Given the description of an element on the screen output the (x, y) to click on. 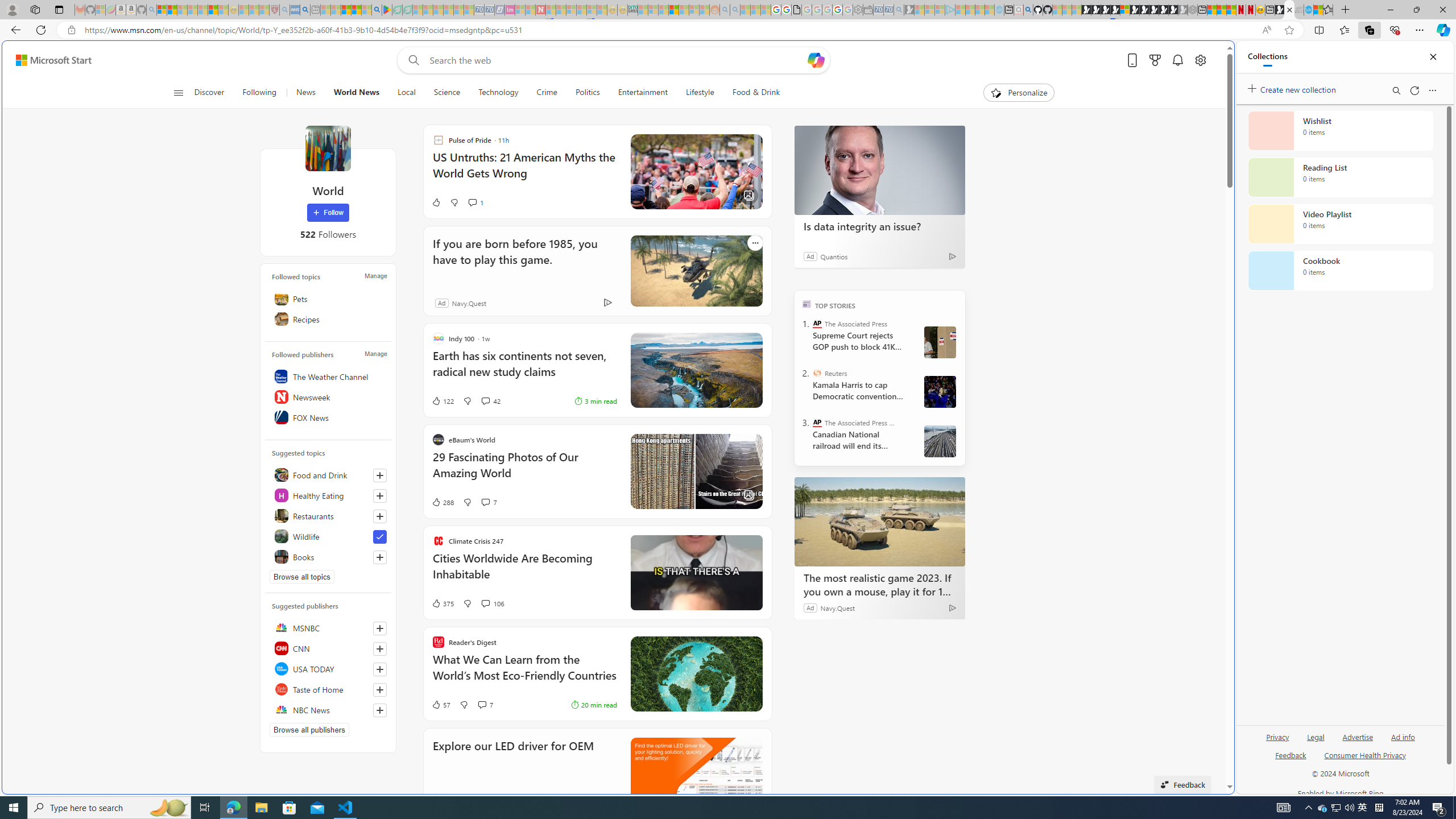
Books (327, 556)
utah sues federal government - Search (922, 389)
122 Like (442, 400)
If you are born before 1985, you have to play this game. (696, 270)
Browse all publishers (309, 729)
View comments 7 Comment (485, 704)
View comments 42 Comment (490, 400)
Reading List collection, 0 items (1339, 177)
